Given the description of an element on the screen output the (x, y) to click on. 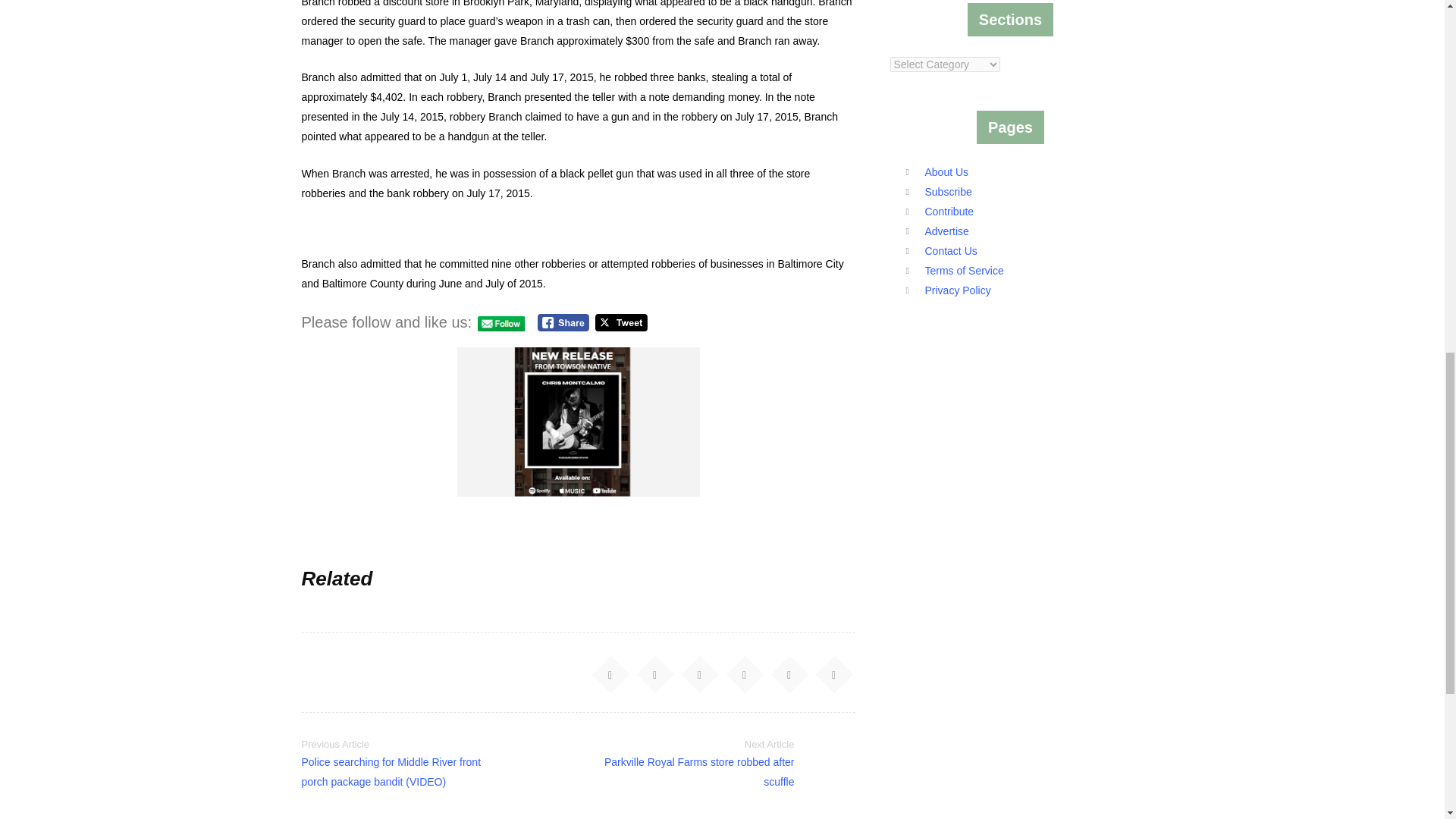
Facebook Share (563, 322)
Parkville Royal Farms store robbed after scuffle (699, 771)
